Given the description of an element on the screen output the (x, y) to click on. 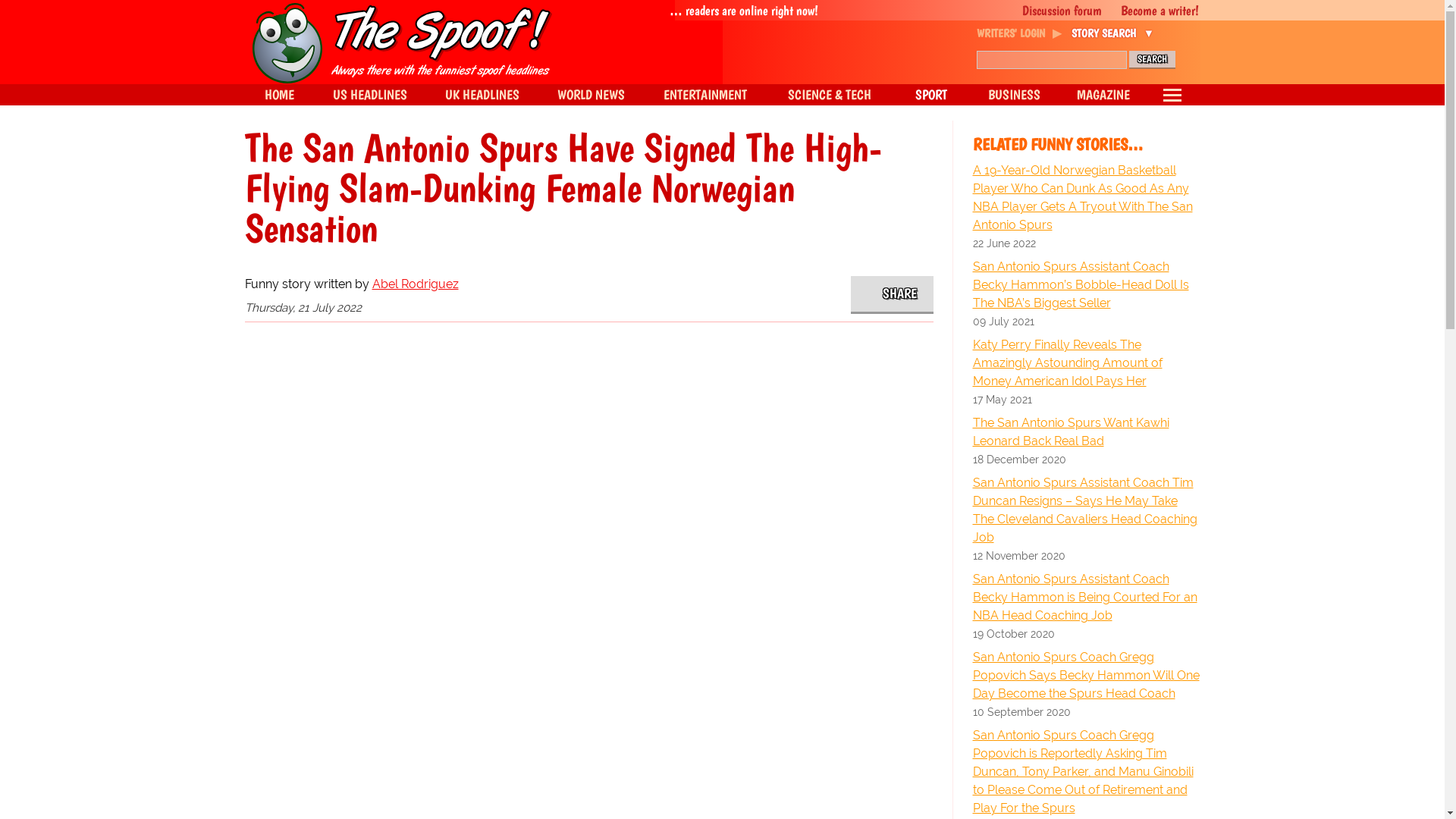
The San Antonio Spurs Want Kawhi Leonard Back Real Bad (1085, 432)
Spoof News Business Brief (1014, 94)
Abel Rodriguez (414, 283)
US HEADLINES (370, 94)
HOME (278, 94)
Discussion forum (1054, 10)
Spoof News US Headlines (370, 94)
WORLD NEWS (590, 94)
SPORT (930, 94)
